Given the description of an element on the screen output the (x, y) to click on. 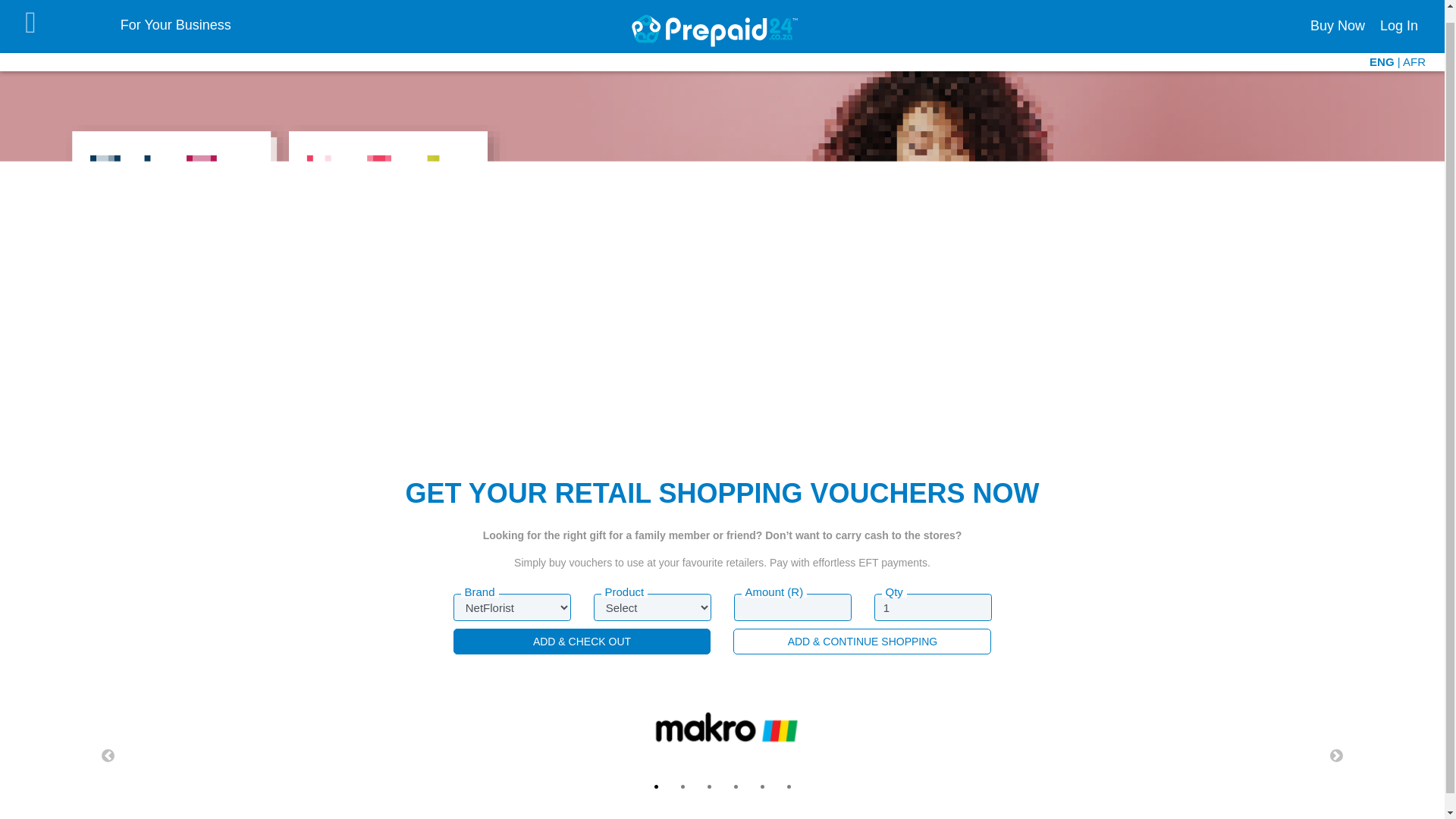
1 (932, 606)
Log In (1406, 15)
Buy Now (1345, 15)
ENG (1382, 49)
For Your Business (175, 12)
AFR (1414, 49)
